Given the description of an element on the screen output the (x, y) to click on. 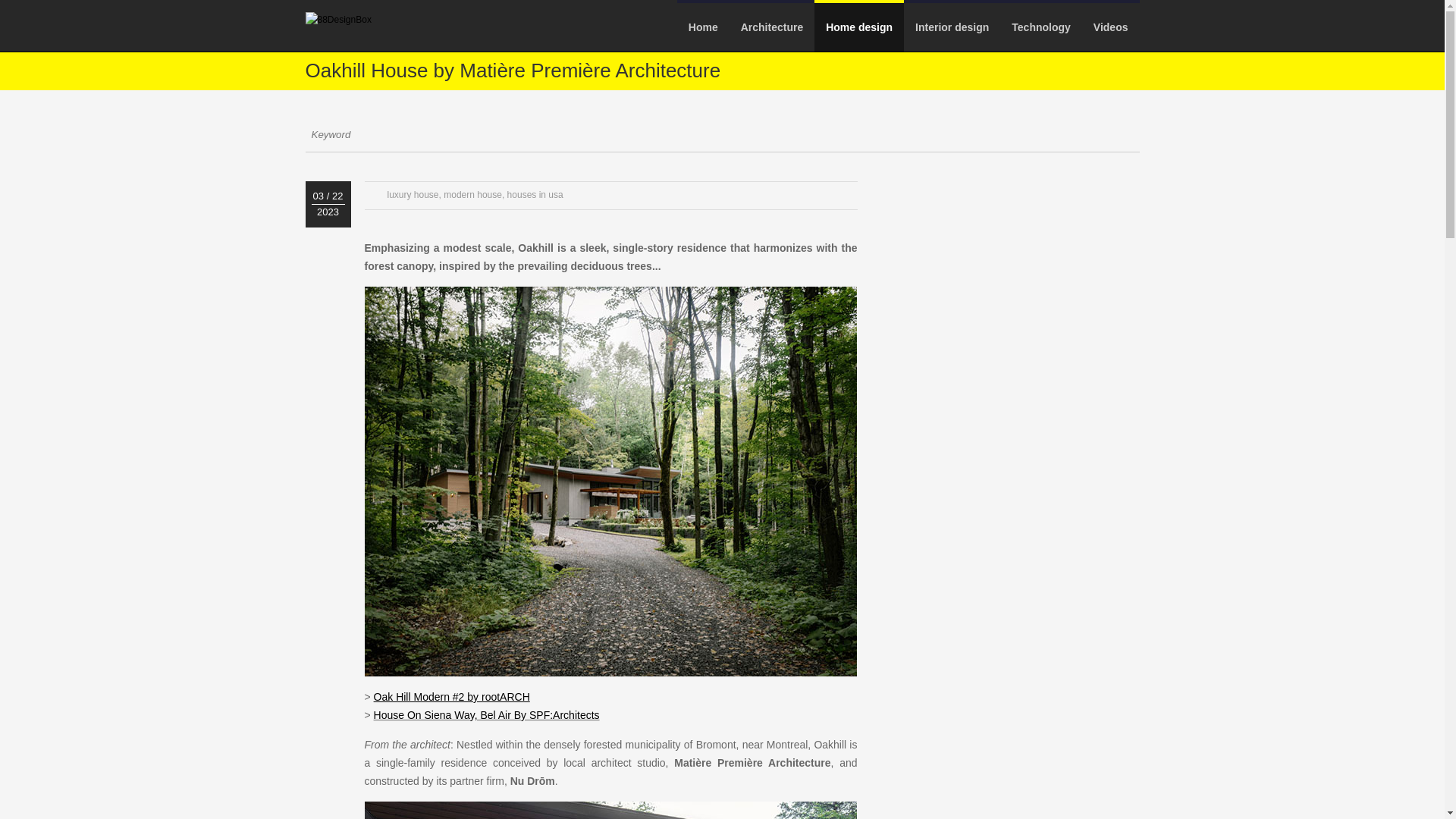
Interior design (952, 27)
Home design (858, 27)
Home design (858, 27)
Technology (1040, 27)
Technology (1040, 27)
Home (703, 27)
Videos (1110, 27)
Architecture (771, 27)
Interior design (952, 27)
luxury house (412, 194)
Home (703, 27)
88DesignBox (337, 19)
houses in usa (534, 194)
modern house (473, 194)
Architecture (771, 27)
